Given the description of an element on the screen output the (x, y) to click on. 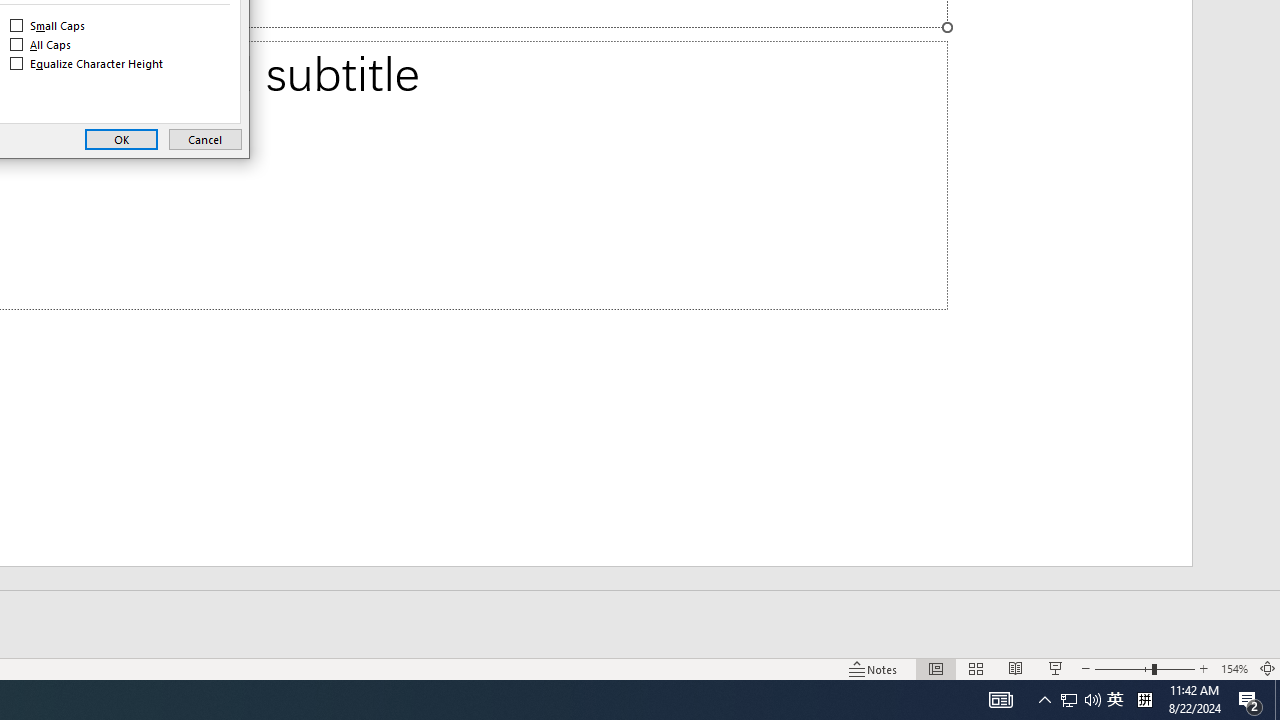
Zoom 154% (1234, 668)
Small Caps (48, 25)
All Caps (41, 44)
